Given the description of an element on the screen output the (x, y) to click on. 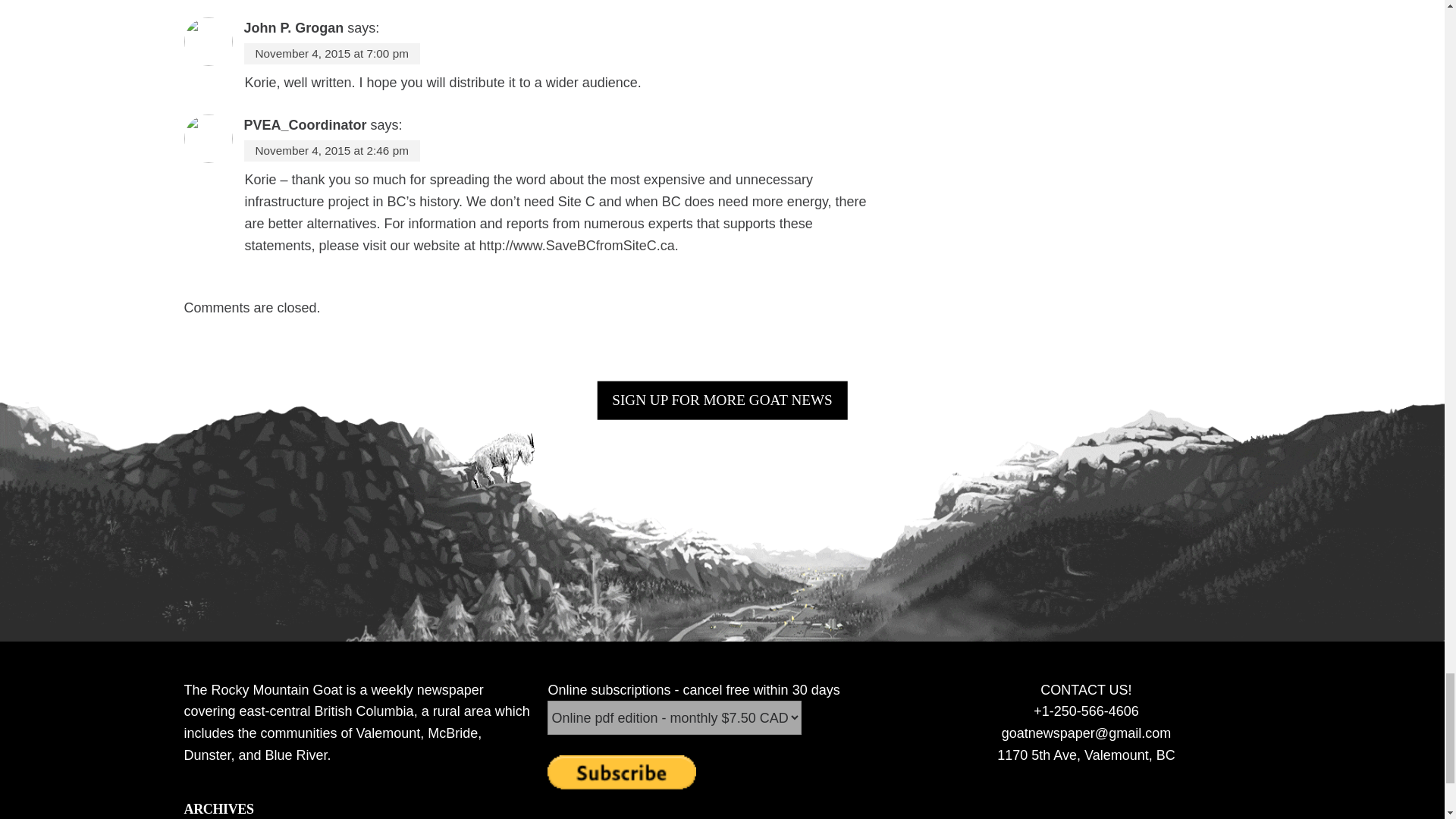
PayPal - The safer, easier way to pay online! (621, 772)
